Given the description of an element on the screen output the (x, y) to click on. 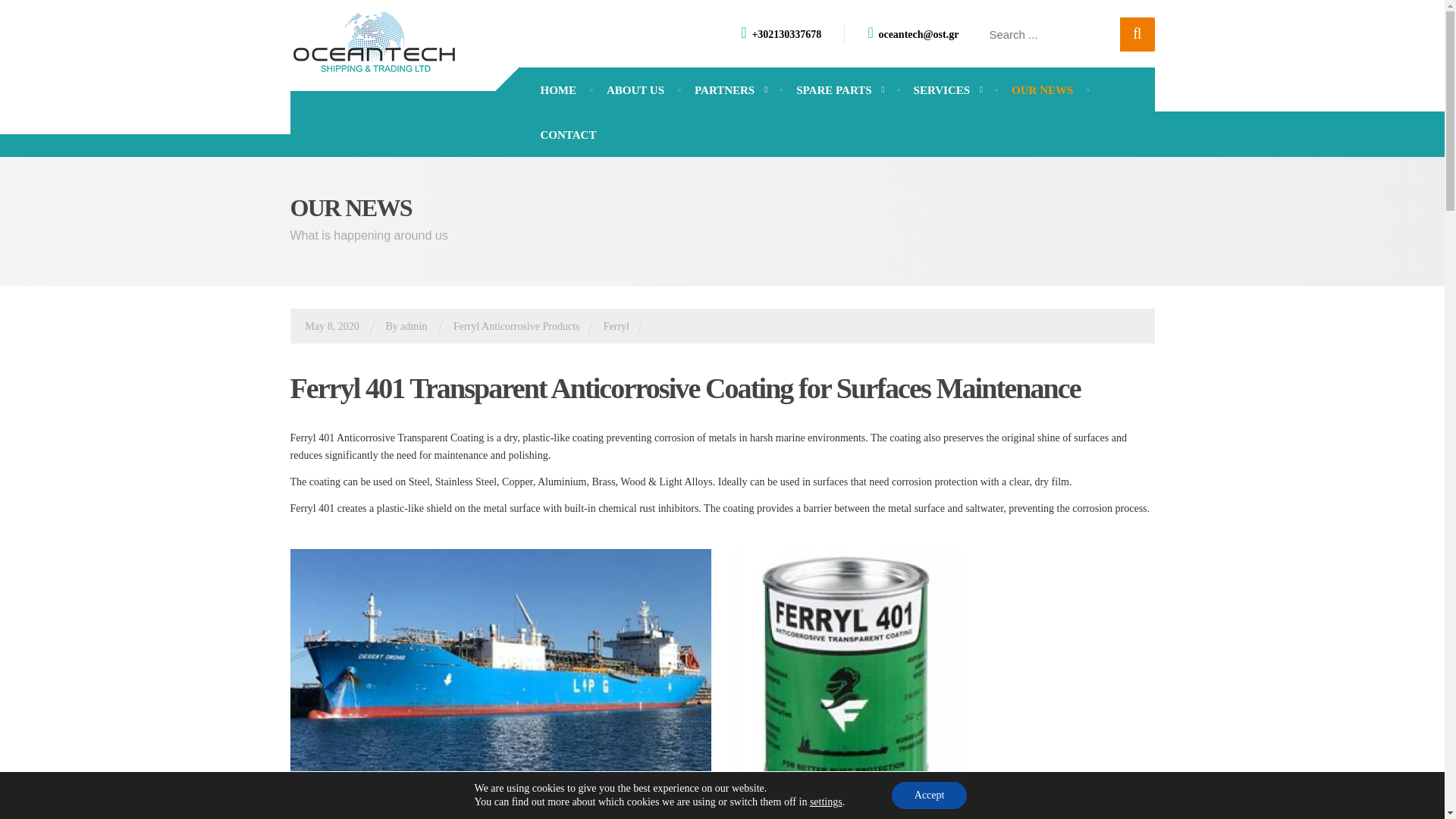
ABOUT US (635, 90)
HOME (557, 90)
PARTNERS (729, 90)
SPARE PARTS (839, 90)
